Given the description of an element on the screen output the (x, y) to click on. 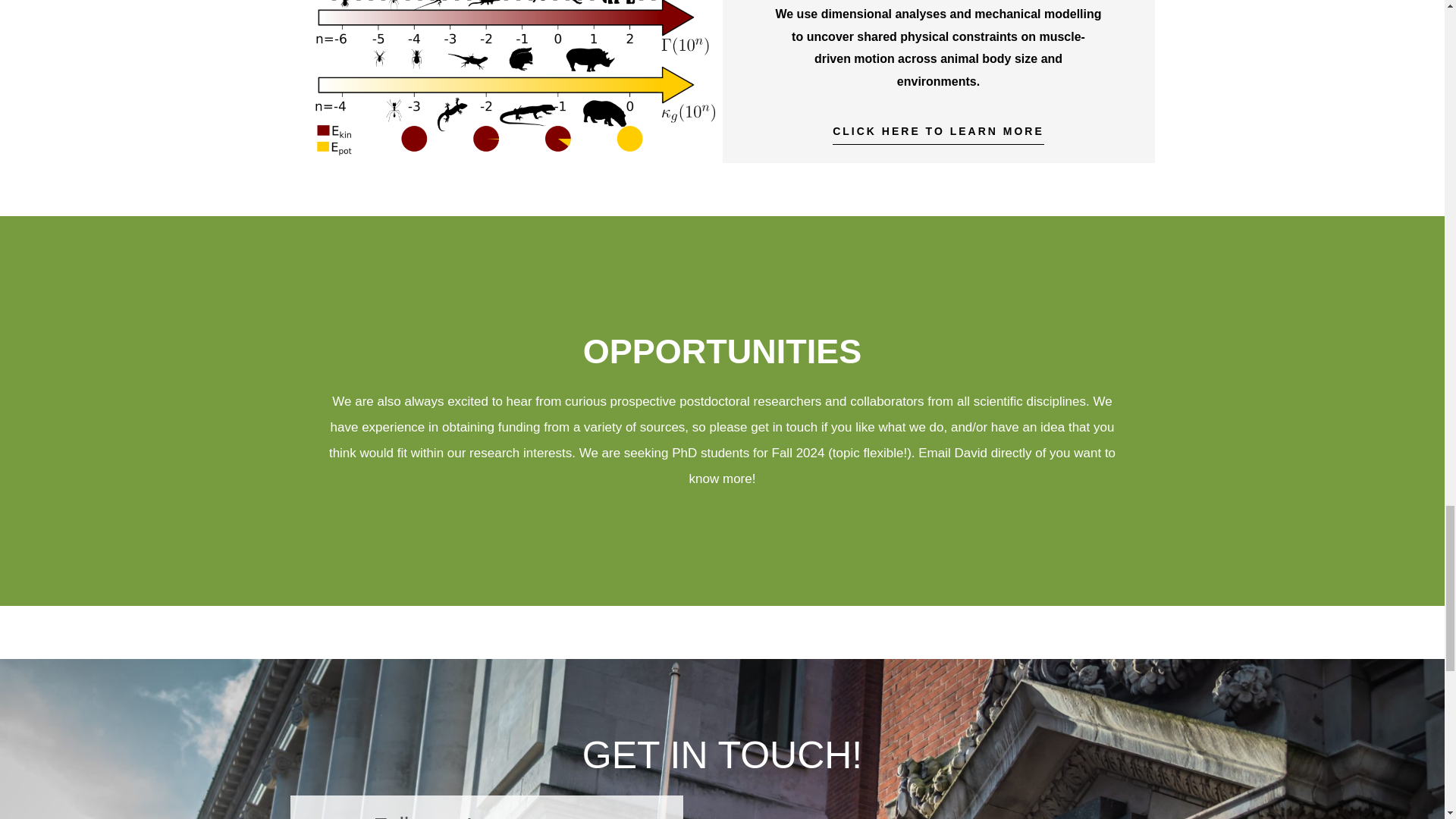
Imperial College London (933, 807)
